Given the description of an element on the screen output the (x, y) to click on. 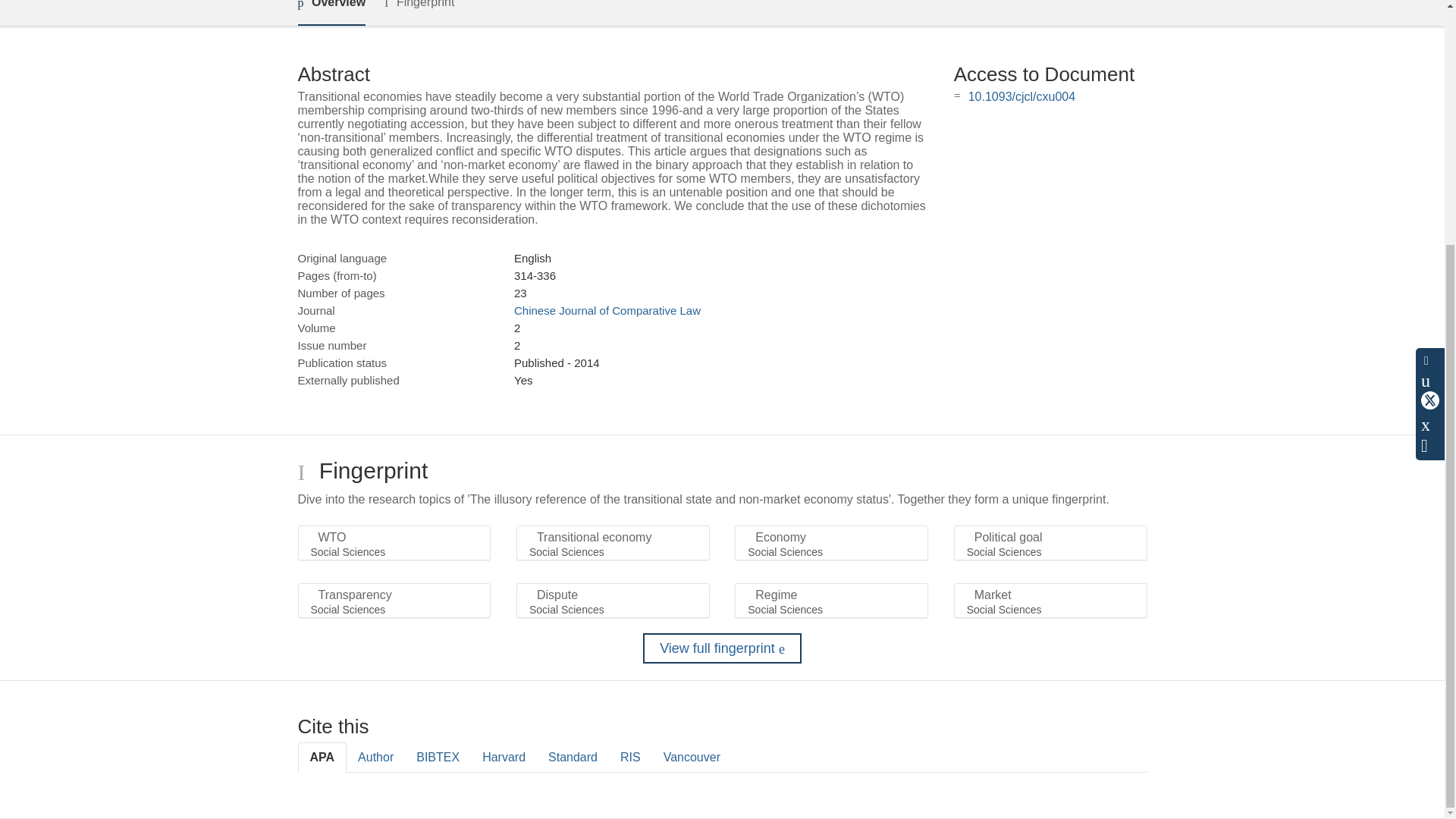
Fingerprint (419, 12)
Chinese Journal of Comparative Law (606, 309)
Overview (331, 12)
View full fingerprint (722, 648)
